Given the description of an element on the screen output the (x, y) to click on. 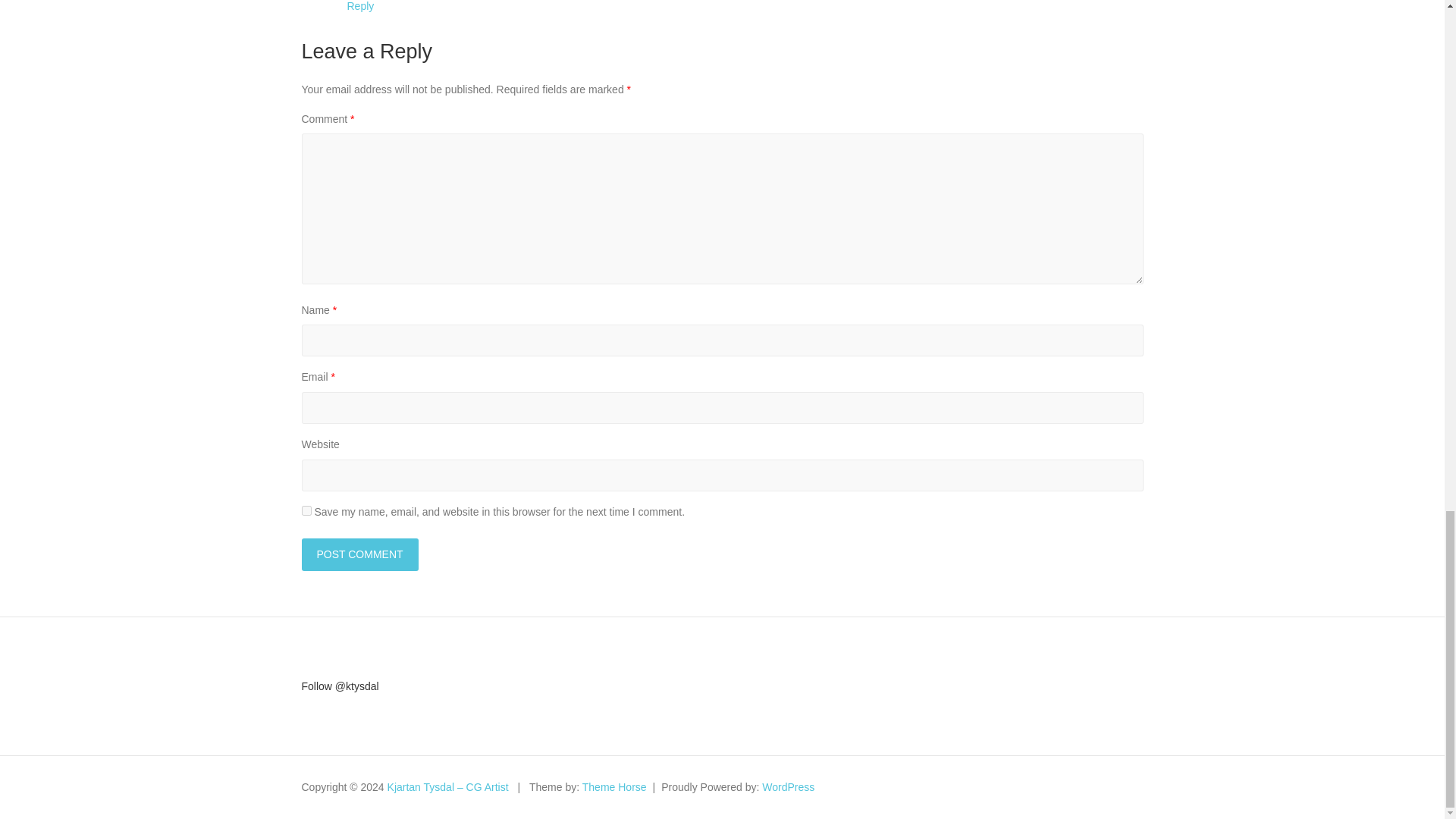
yes (306, 510)
Post Comment (360, 554)
WordPress (787, 787)
Theme Horse (614, 787)
Post Comment (360, 554)
Reply (360, 6)
